Given the description of an element on the screen output the (x, y) to click on. 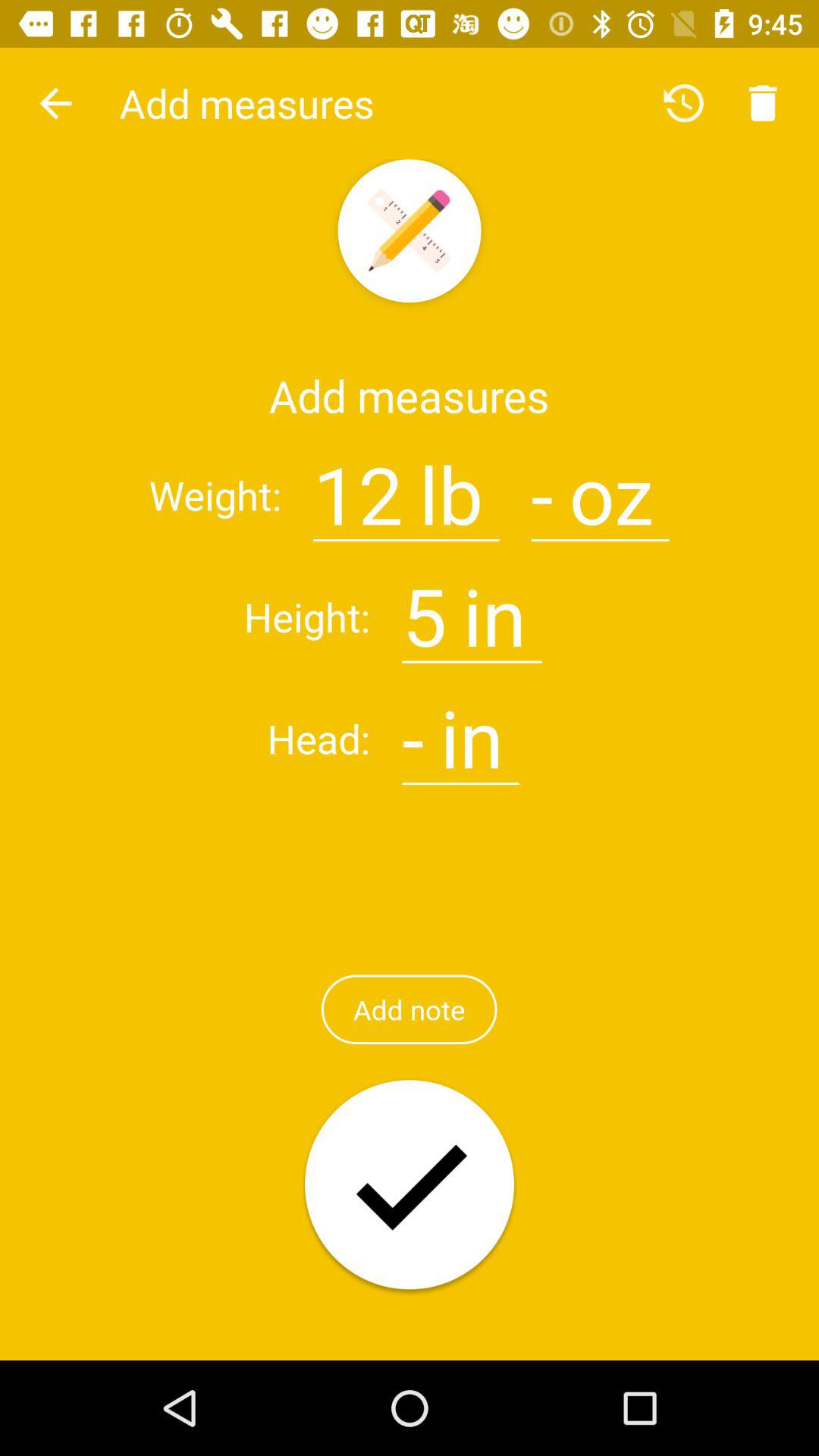
minus symbol (413, 728)
